Given the description of an element on the screen output the (x, y) to click on. 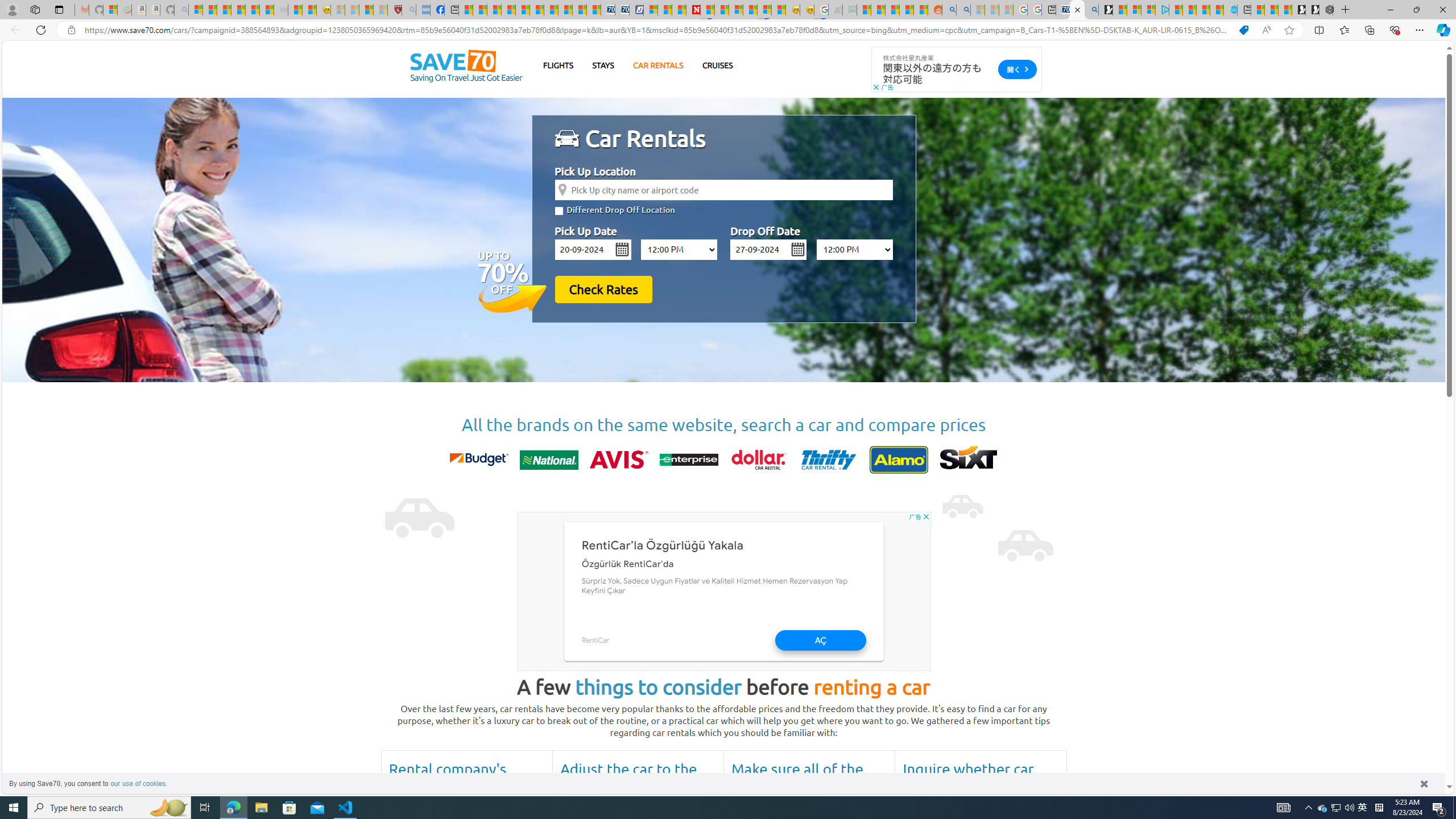
Close (1442, 9)
Collections (1369, 29)
Workspaces (34, 9)
Back (13, 29)
App bar (728, 29)
CAR RENTALS (657, 65)
dismiss cookie message (1424, 783)
World - MSN (493, 9)
list of asthma inhalers uk - Search - Sleeping (408, 9)
Recipes - MSN - Sleeping (337, 9)
View site information (70, 29)
DITOGAMES AG Imprint - Sleeping (849, 9)
